Given the description of an element on the screen output the (x, y) to click on. 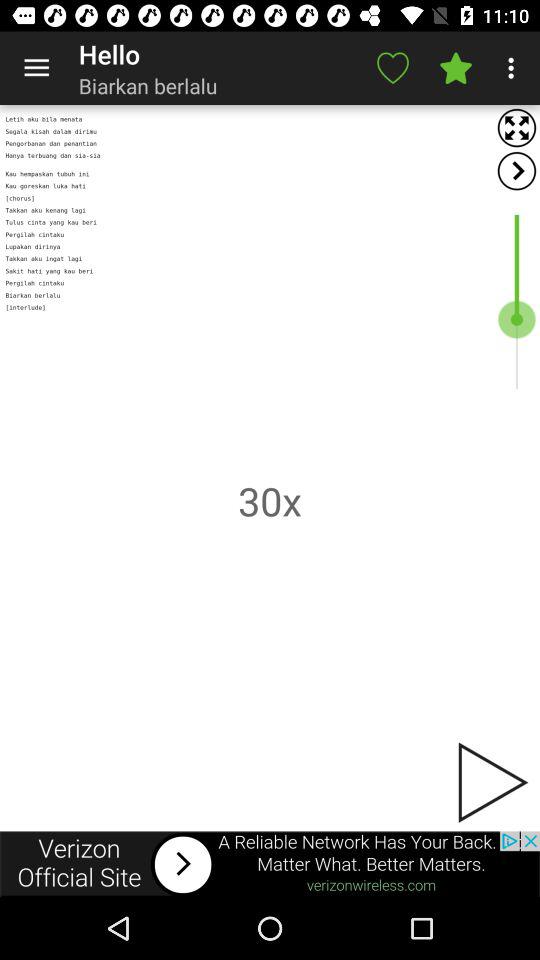
expand screen (516, 127)
